Given the description of an element on the screen output the (x, y) to click on. 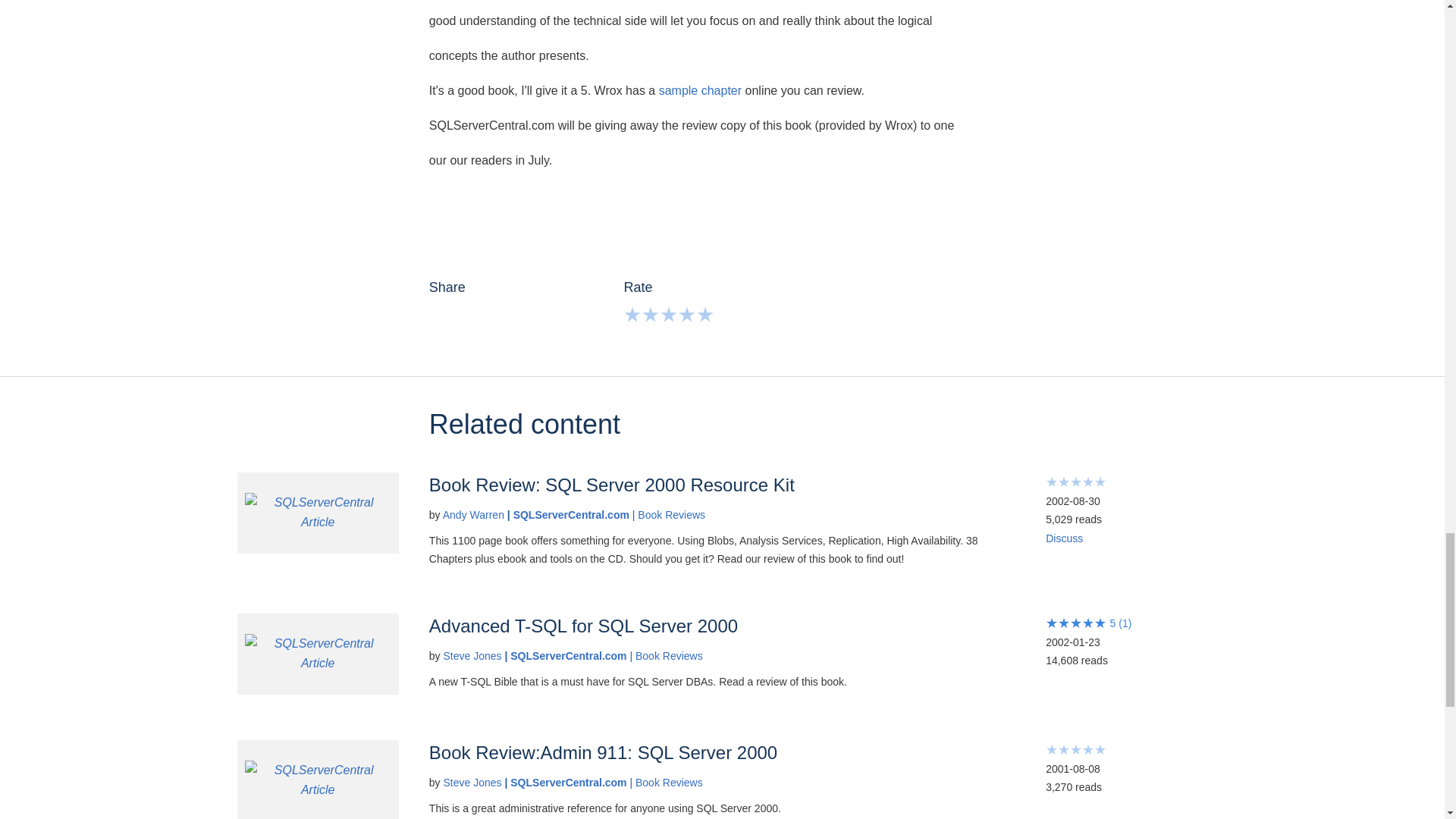
sample chapter (700, 90)
